Given the description of an element on the screen output the (x, y) to click on. 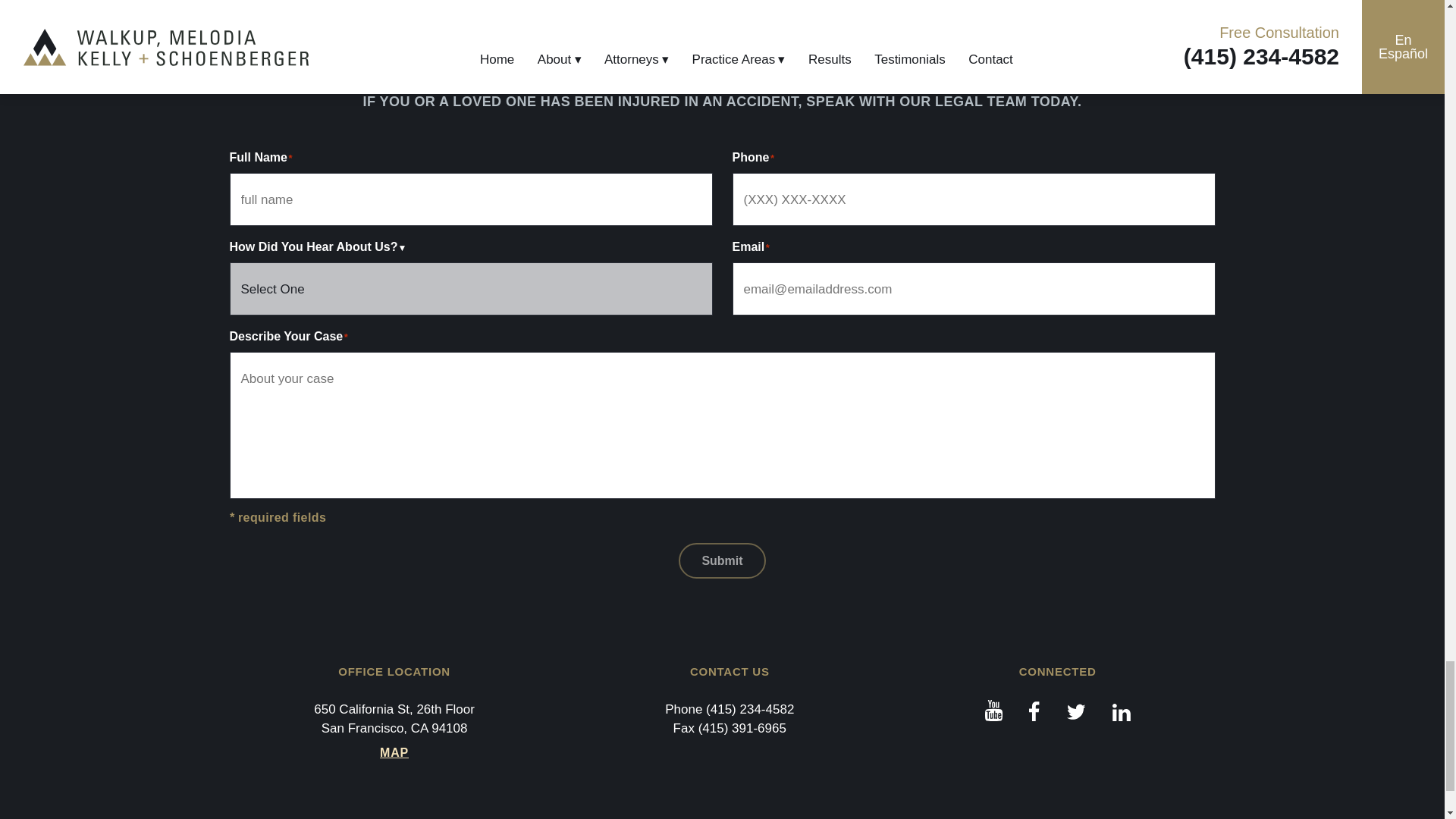
Phone (749, 708)
Fax (742, 728)
Twitter (1076, 710)
